Given the description of an element on the screen output the (x, y) to click on. 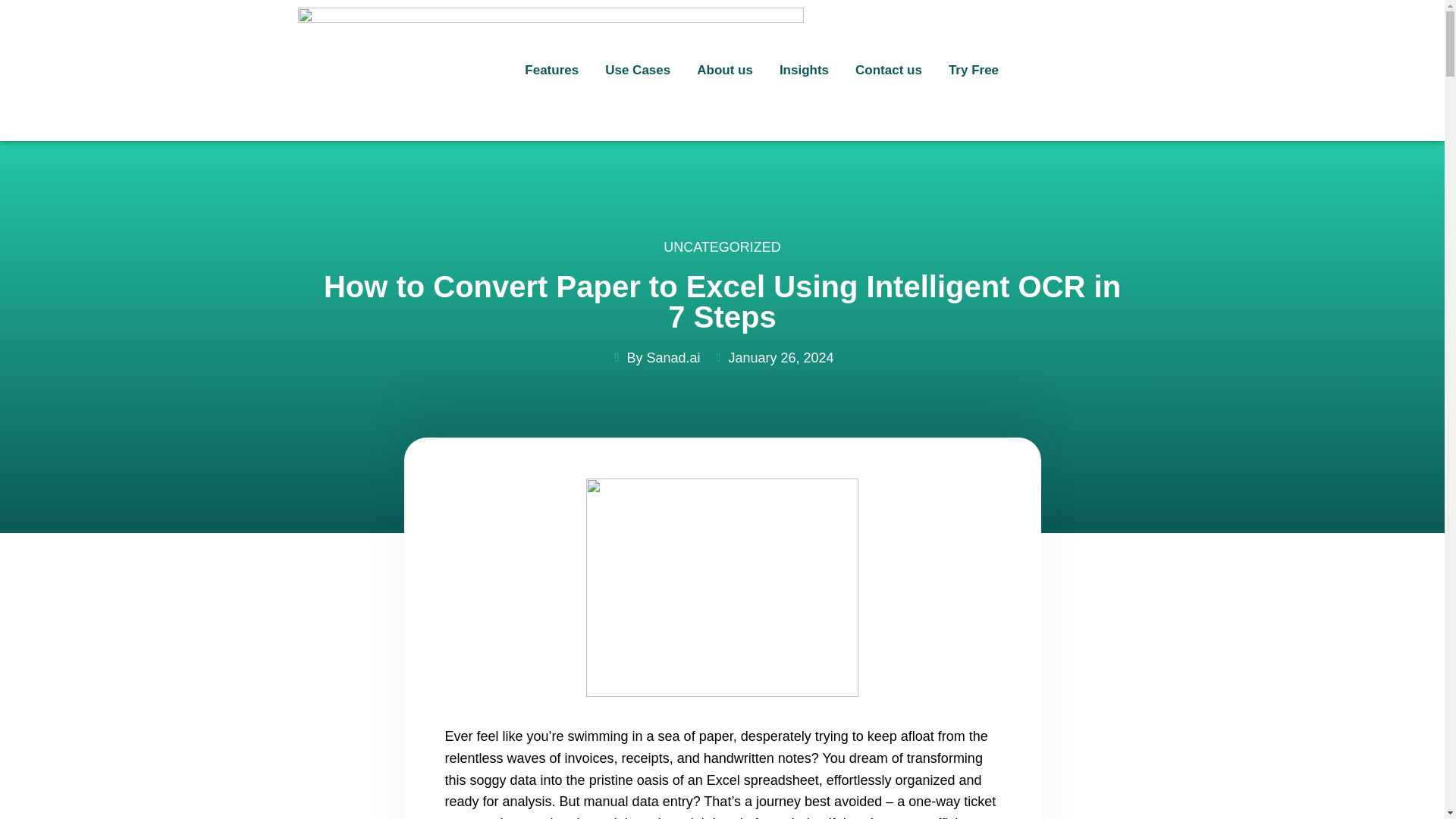
Contact us (888, 70)
Try Free (973, 70)
UNCATEGORIZED (721, 253)
About us (724, 70)
Features (551, 70)
Use Cases (637, 70)
Insights (803, 70)
By Sanad.ai (655, 358)
January 26, 2024 (771, 358)
